Given the description of an element on the screen output the (x, y) to click on. 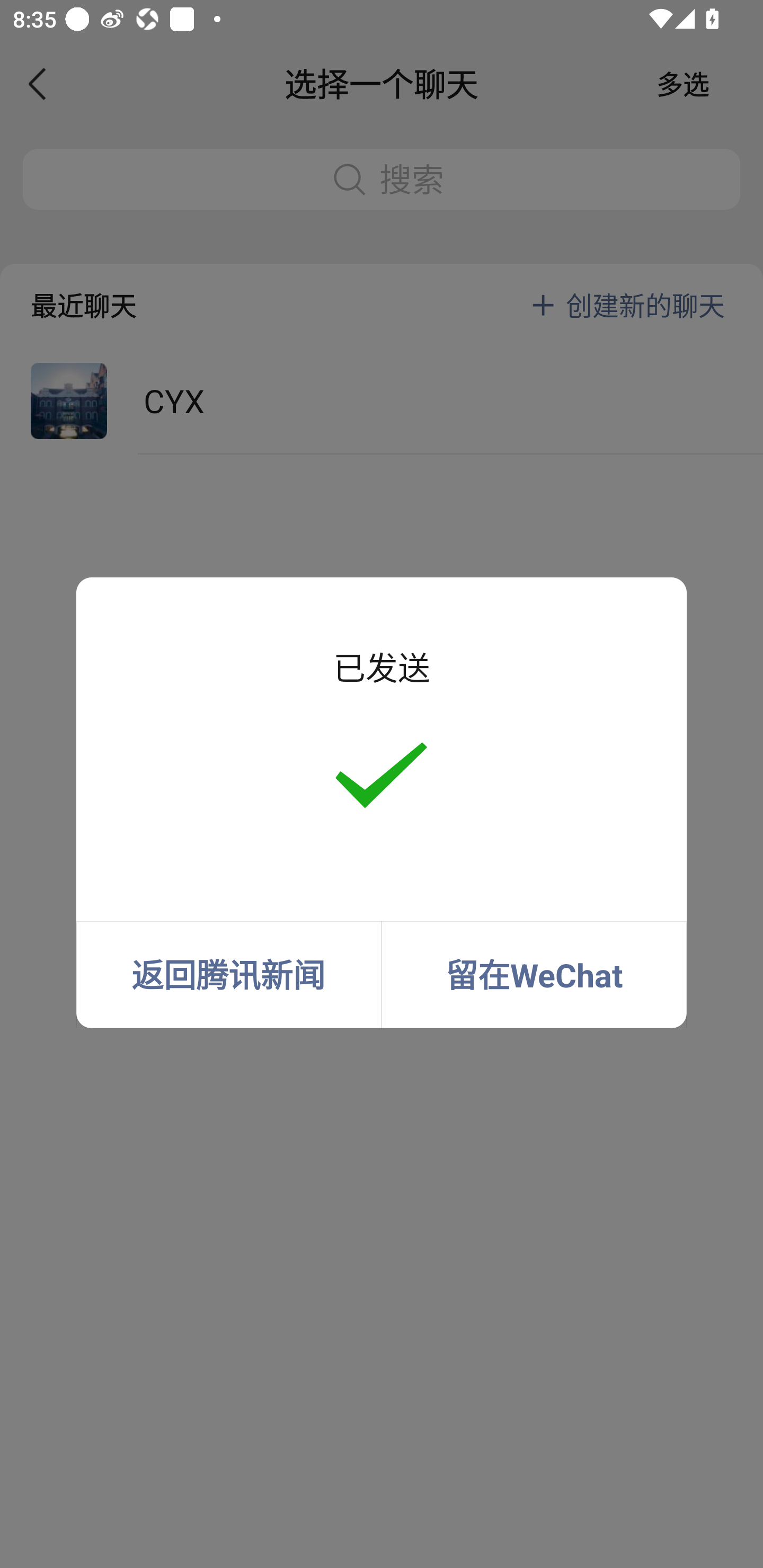
返回腾讯新闻 (228, 974)
留在WeChat (534, 974)
